Given the description of an element on the screen output the (x, y) to click on. 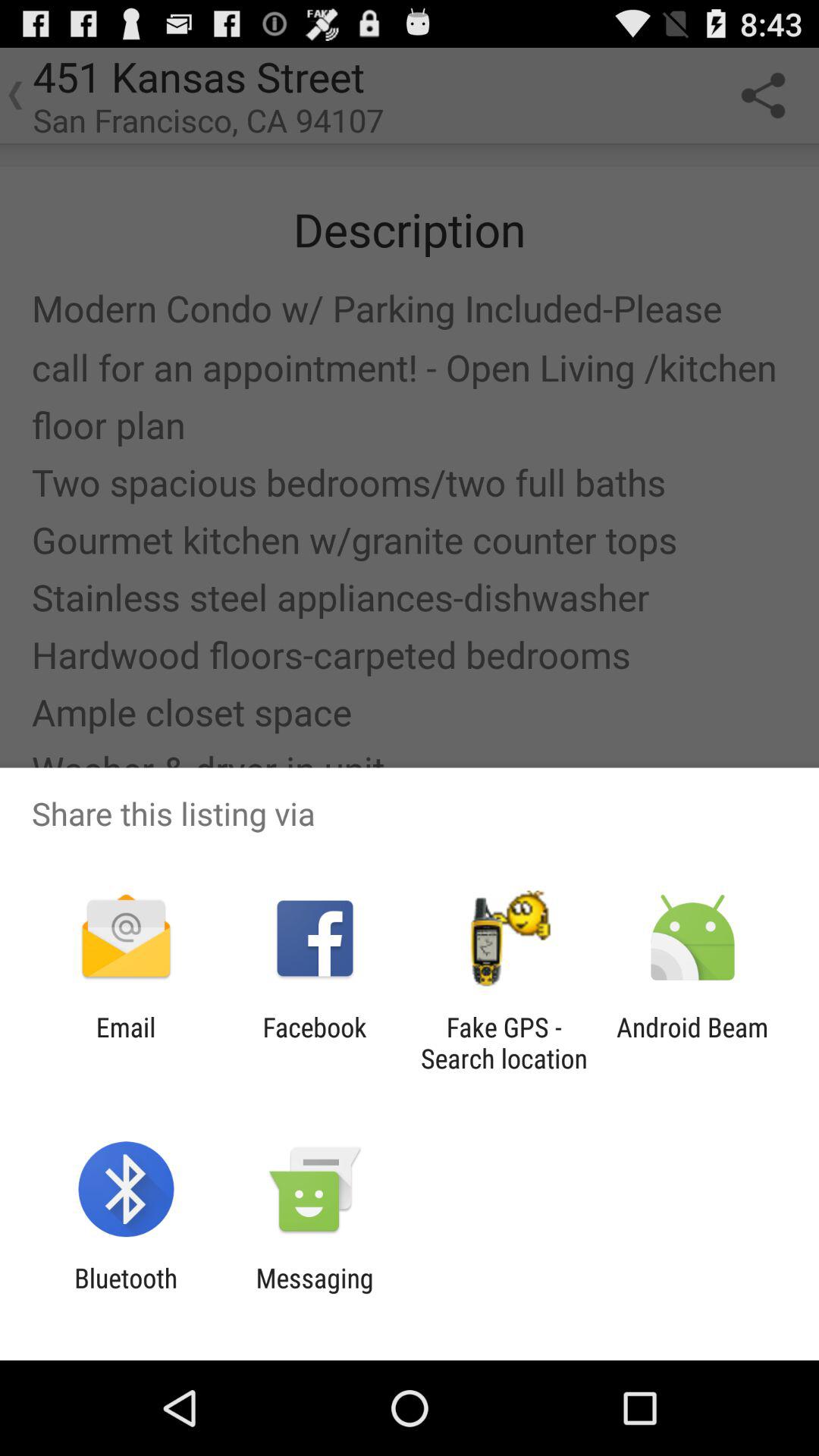
turn on android beam app (692, 1042)
